Given the description of an element on the screen output the (x, y) to click on. 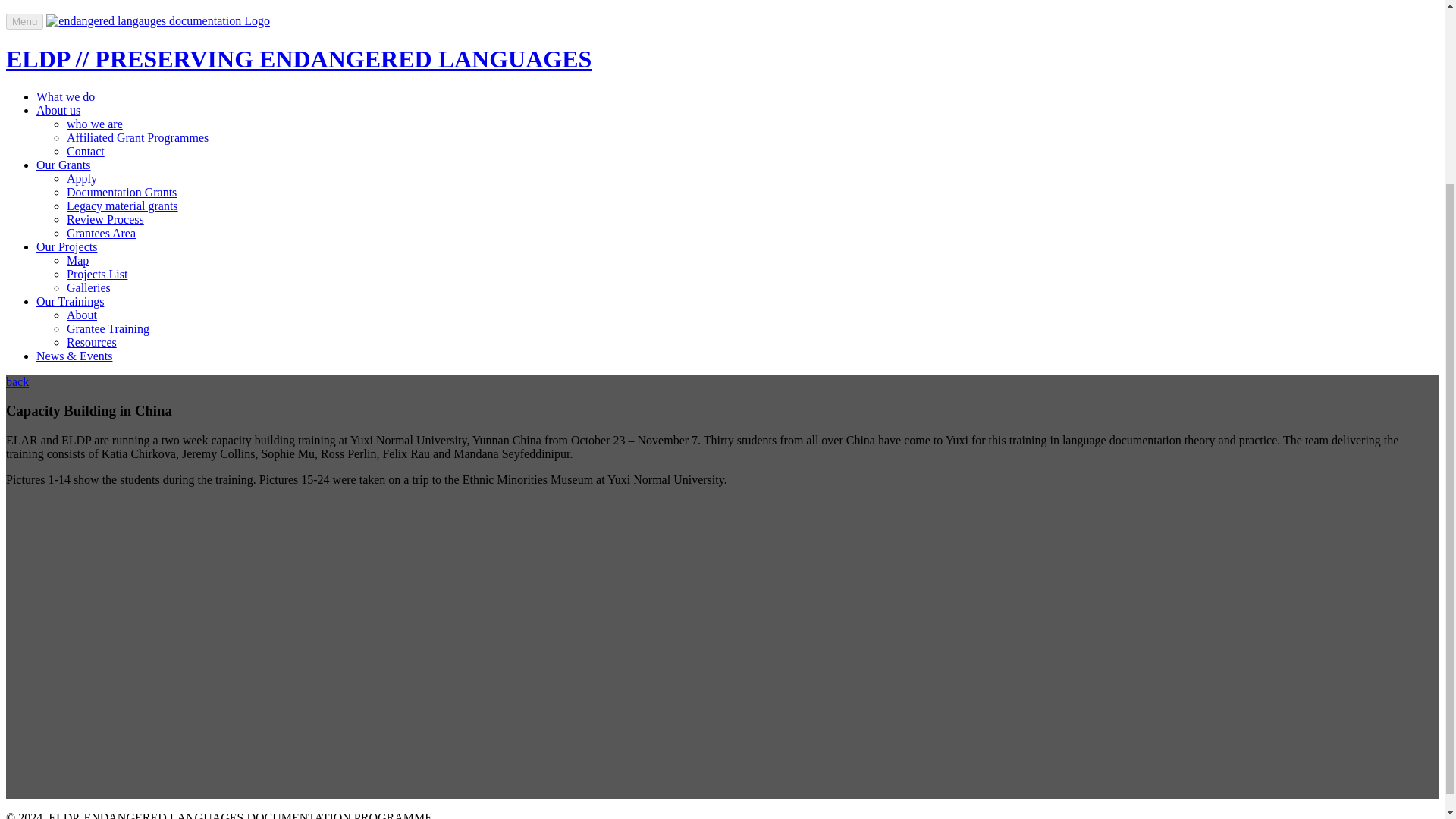
Grantee Training (107, 328)
Legacy material grants (121, 205)
who we are (94, 123)
Our Grants (63, 164)
About (81, 314)
Contact (85, 151)
Map (77, 259)
About (81, 314)
Affiliated Grant Programmes (137, 137)
Affiliated Grant Programmes (137, 137)
